Given the description of an element on the screen output the (x, y) to click on. 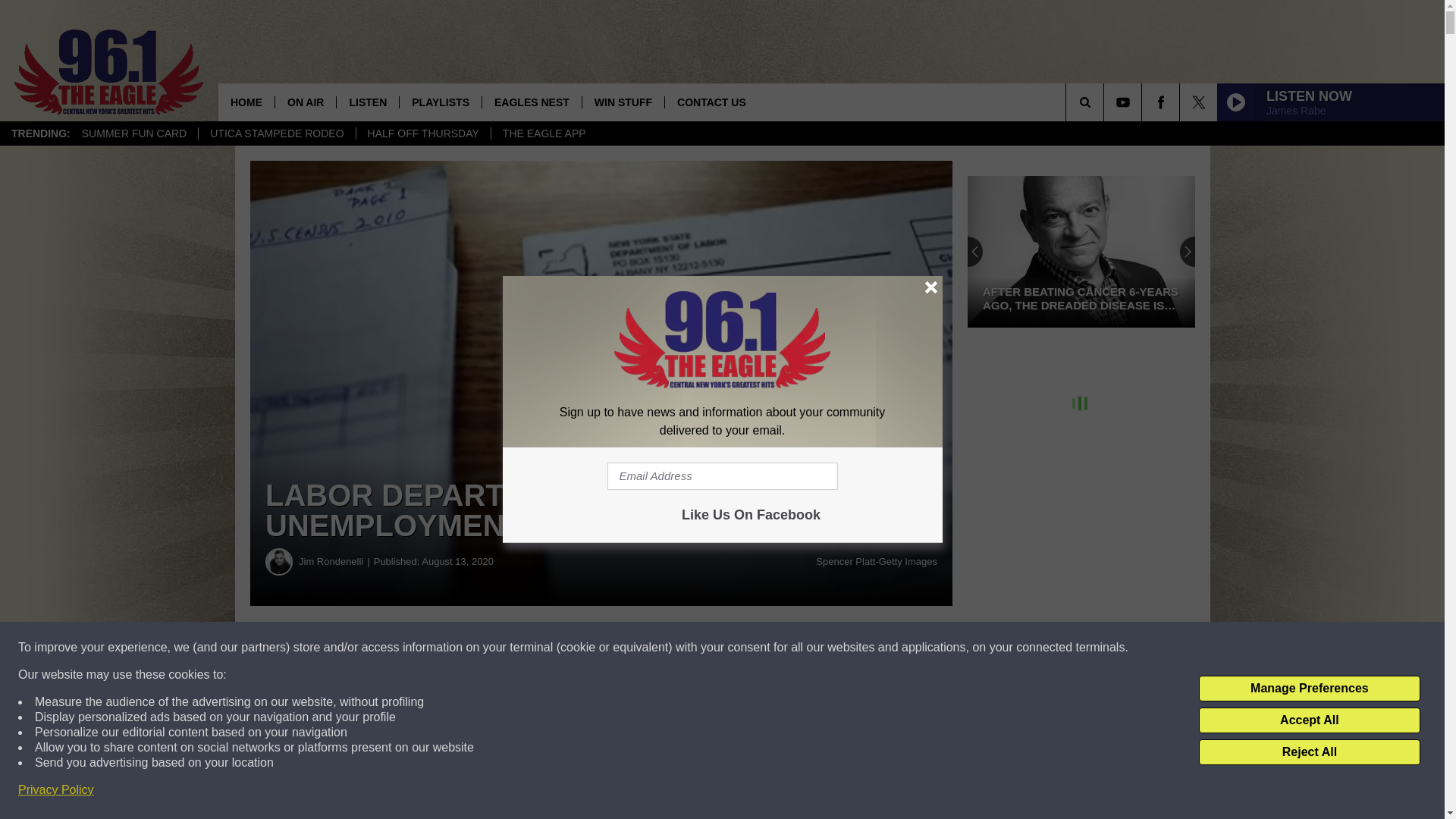
ON AIR (305, 102)
SUMMER FUN CARD (133, 133)
Reject All (1309, 751)
Manage Preferences (1309, 688)
THE EAGLE APP (543, 133)
HOME (246, 102)
SEARCH (1106, 102)
Accept All (1309, 720)
EAGLES NEST (530, 102)
LISTEN (367, 102)
UTICA STAMPEDE RODEO (276, 133)
PLAYLISTS (439, 102)
CONTACT US (710, 102)
HALF OFF THURSDAY (422, 133)
Privacy Policy (55, 789)
